Given the description of an element on the screen output the (x, y) to click on. 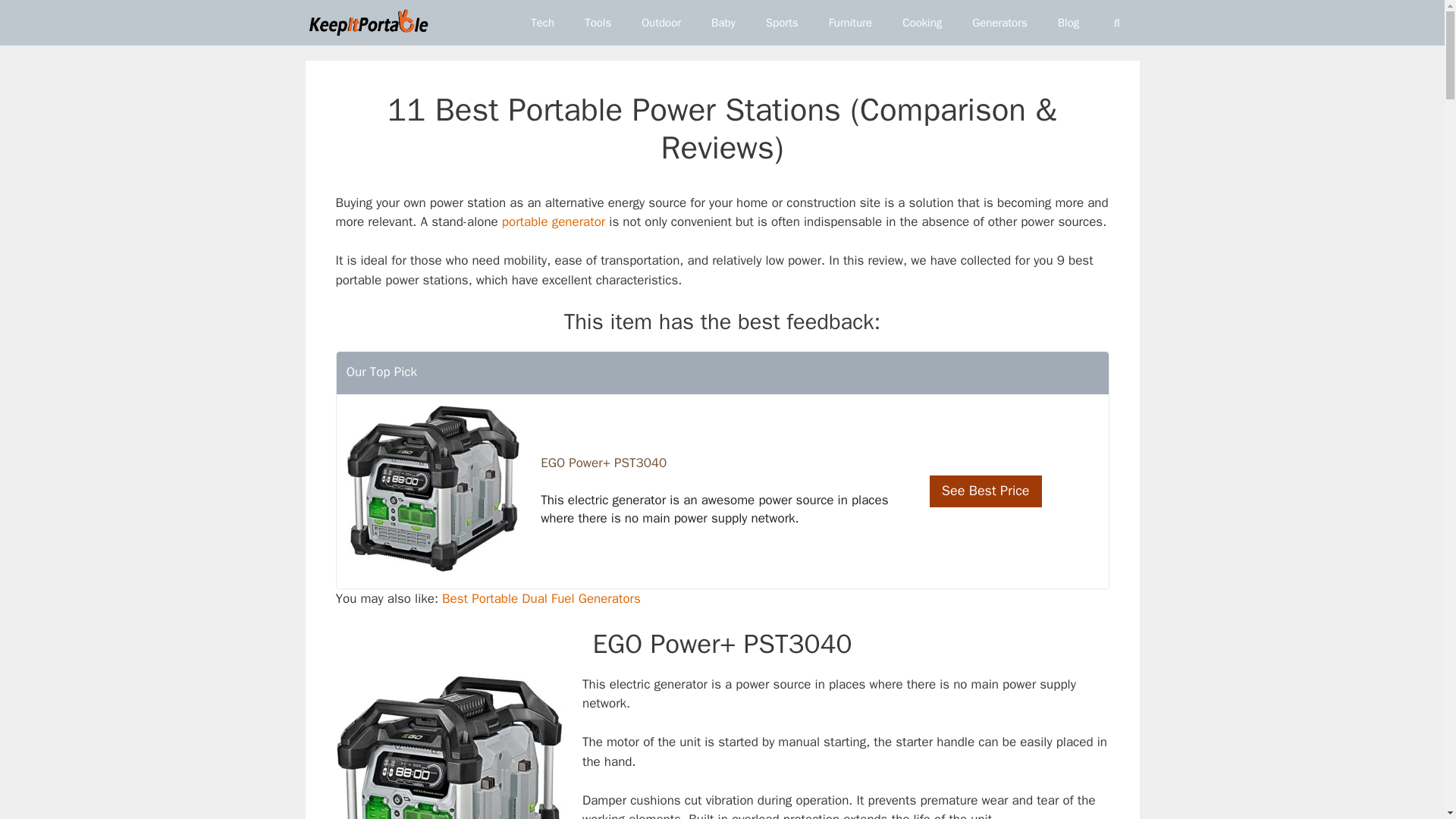
Cooking (921, 22)
Best Portable Dual Fuel Generators (541, 598)
Tools (597, 22)
Keep It Portable. Best portable goods on the market (367, 22)
Outdoor (660, 22)
Blog (1068, 22)
Generators (999, 22)
Keep It Portable. Best portable goods on the market (371, 22)
Sports (782, 22)
Baby (723, 22)
